Given the description of an element on the screen output the (x, y) to click on. 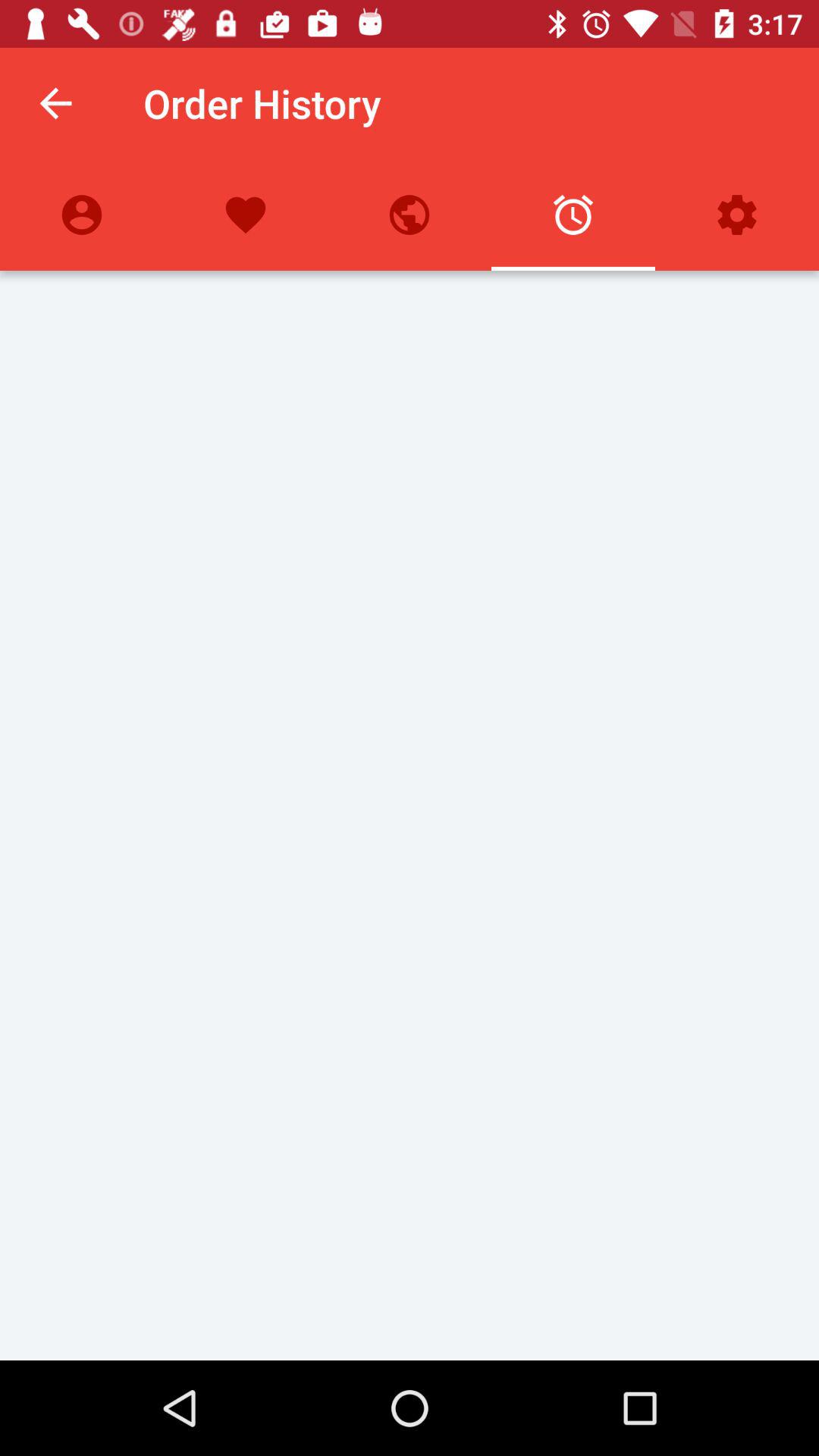
click the icon to the left of the order history (55, 103)
